Given the description of an element on the screen output the (x, y) to click on. 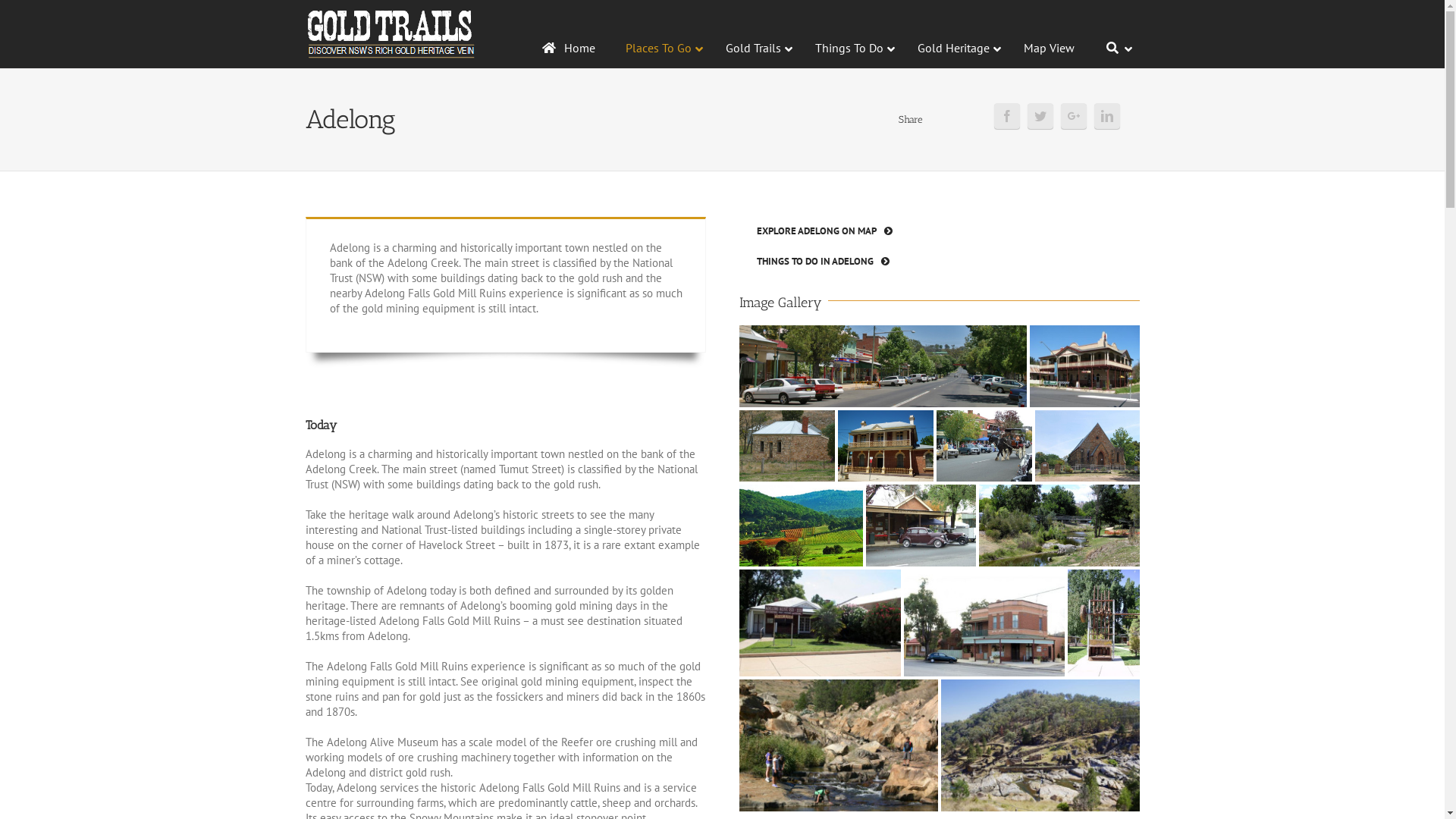
Gold Heritage Element type: text (955, 47)
Things To Do Element type: text (851, 47)
THINGS TO DO IN ADELONG Element type: text (822, 261)
Gold Trails Element type: text (755, 47)
Places To Go Element type: text (660, 47)
Map View Element type: text (1048, 47)
EXPLORE ADELONG ON MAP Element type: text (823, 230)
Home Element type: text (567, 47)
